Given the description of an element on the screen output the (x, y) to click on. 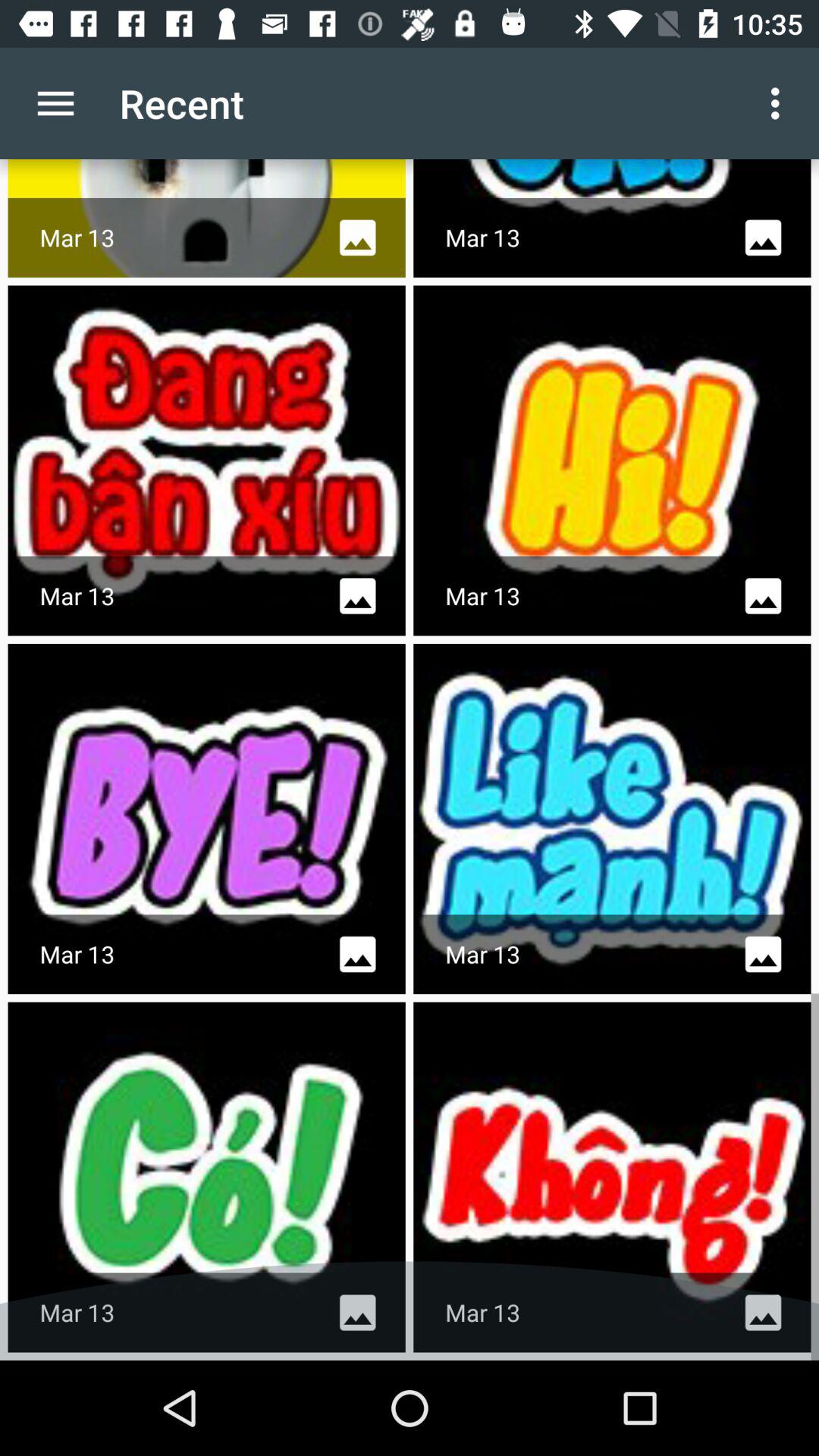
press icon to the left of the recent (55, 103)
